Given the description of an element on the screen output the (x, y) to click on. 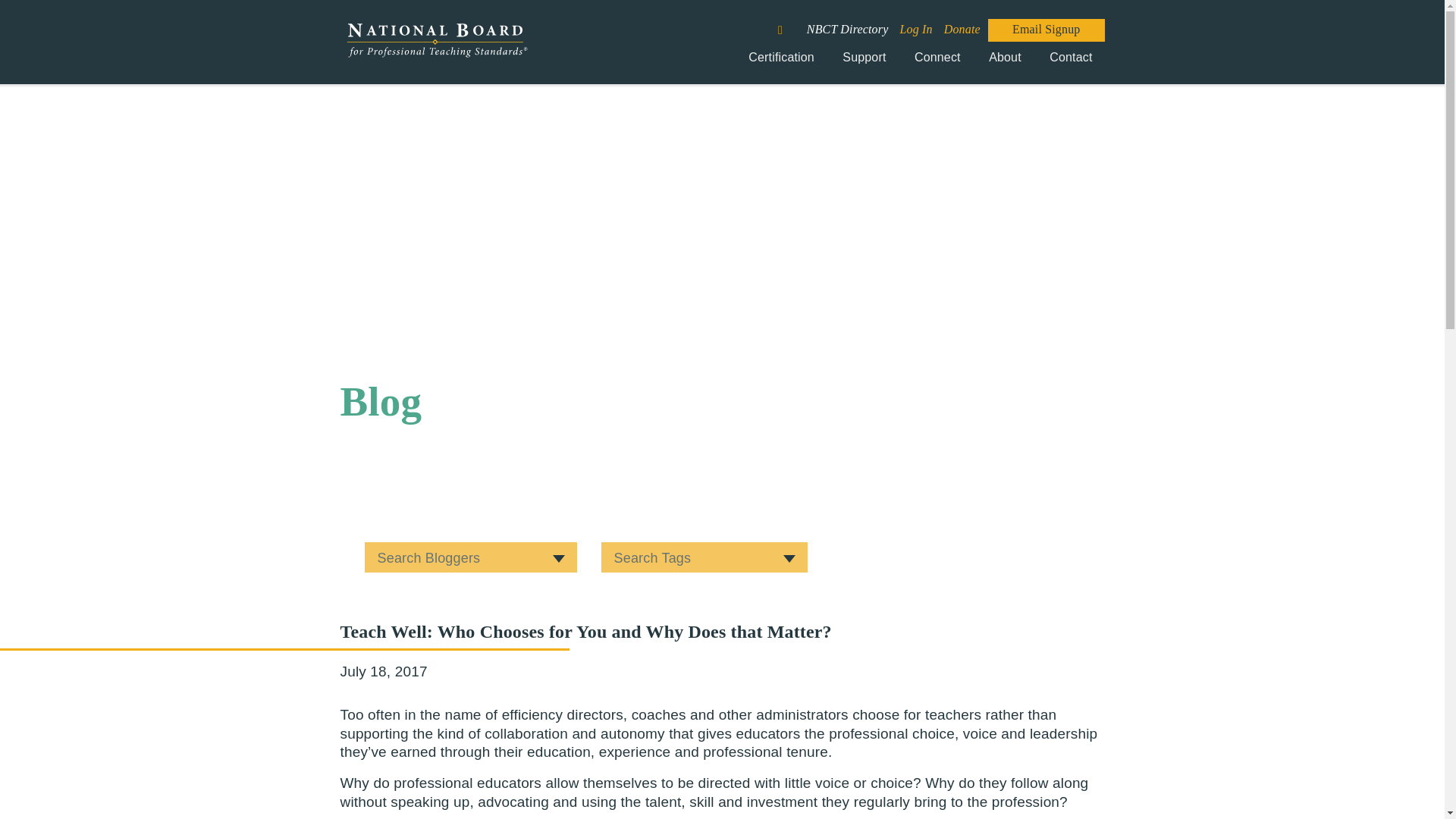
Search Tags (702, 557)
About (1004, 62)
Support (863, 62)
Log In (916, 29)
NBCT Directory (847, 29)
Search (788, 23)
Email Signup (1045, 29)
Certification (781, 62)
Donate (962, 29)
Home Page (435, 47)
